Given the description of an element on the screen output the (x, y) to click on. 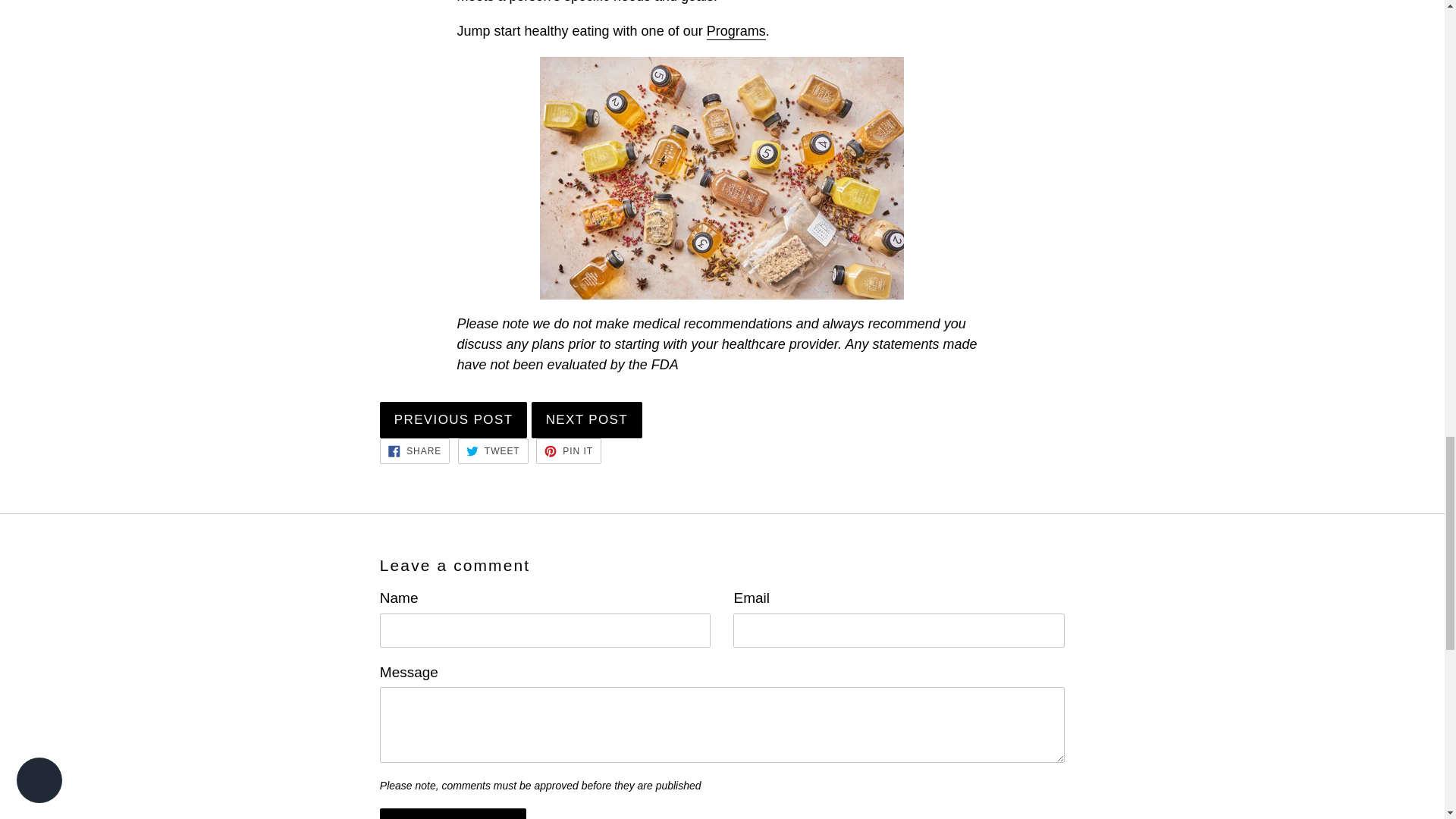
Share on Facebook (414, 451)
Tweet on Twitter (493, 451)
Post comment (452, 813)
Pin on Pinterest (568, 451)
therapeutic programs to assist the body in healing (735, 31)
